Given the description of an element on the screen output the (x, y) to click on. 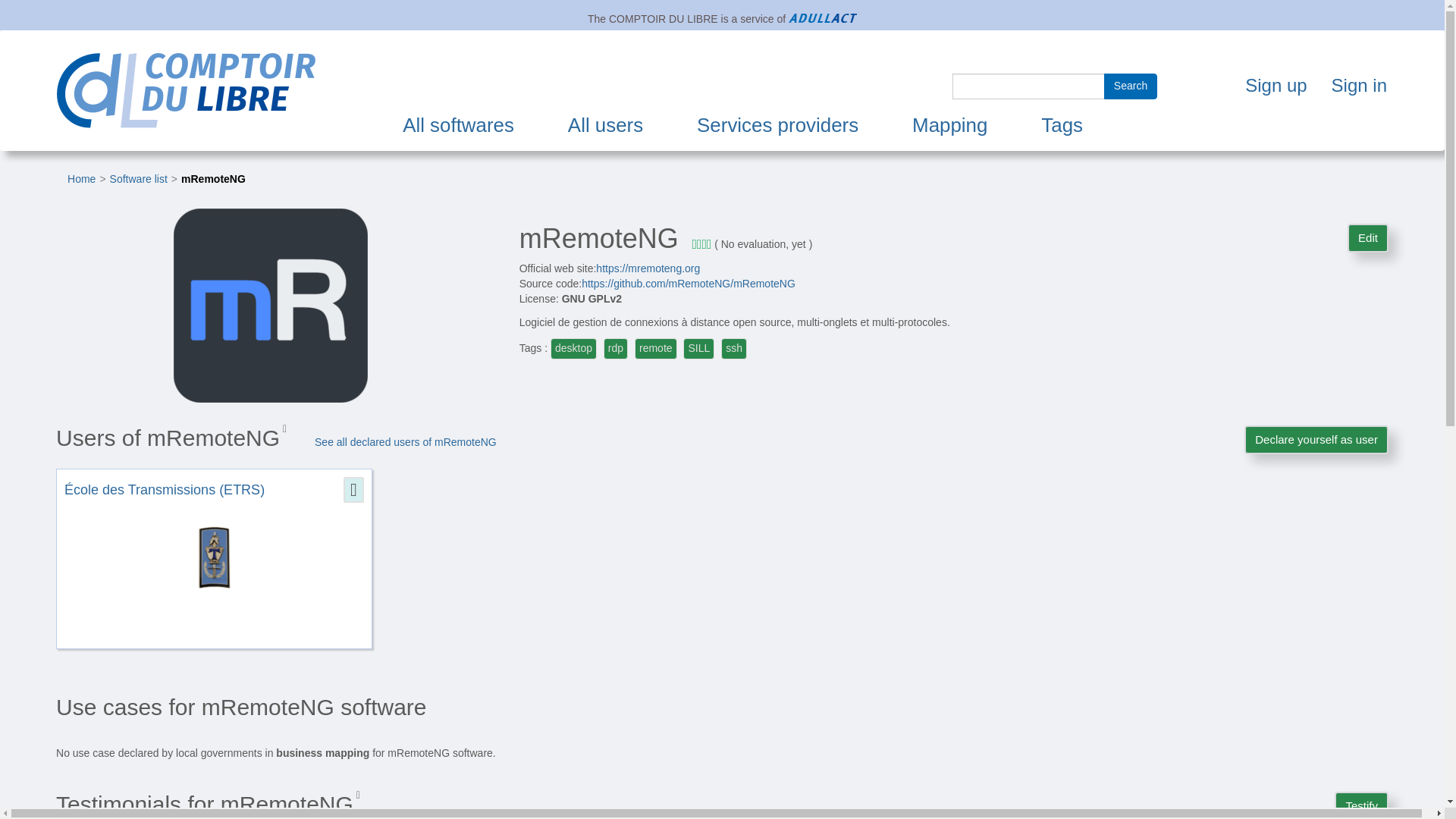
Testify (1362, 805)
Declare yourself as user (1316, 439)
Home (81, 178)
remote (655, 347)
Edit (1368, 237)
See all declared users of mRemoteNG (405, 441)
desktop (573, 347)
Search (1130, 86)
Services providers (777, 125)
mRemoteNG (213, 178)
